Given the description of an element on the screen output the (x, y) to click on. 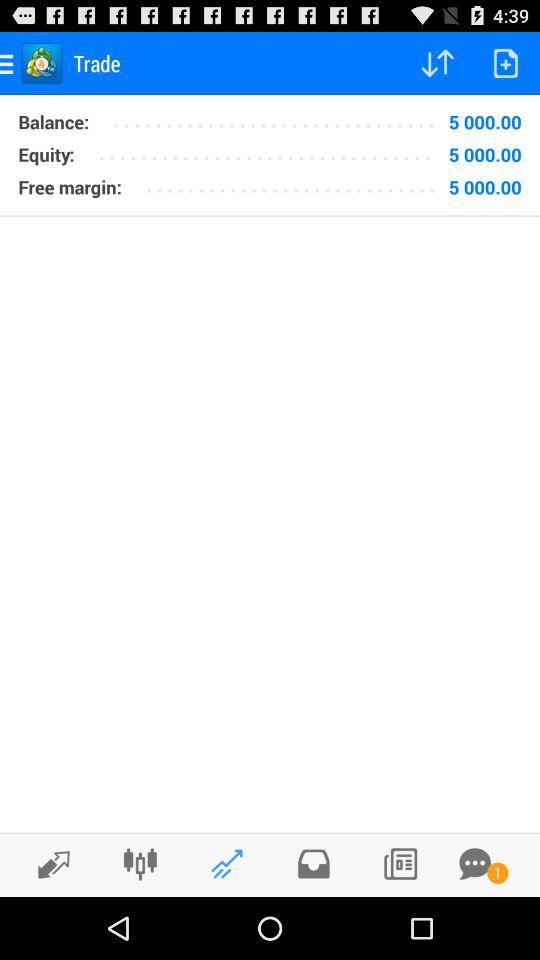
choose chart patterns and options (140, 863)
